Given the description of an element on the screen output the (x, y) to click on. 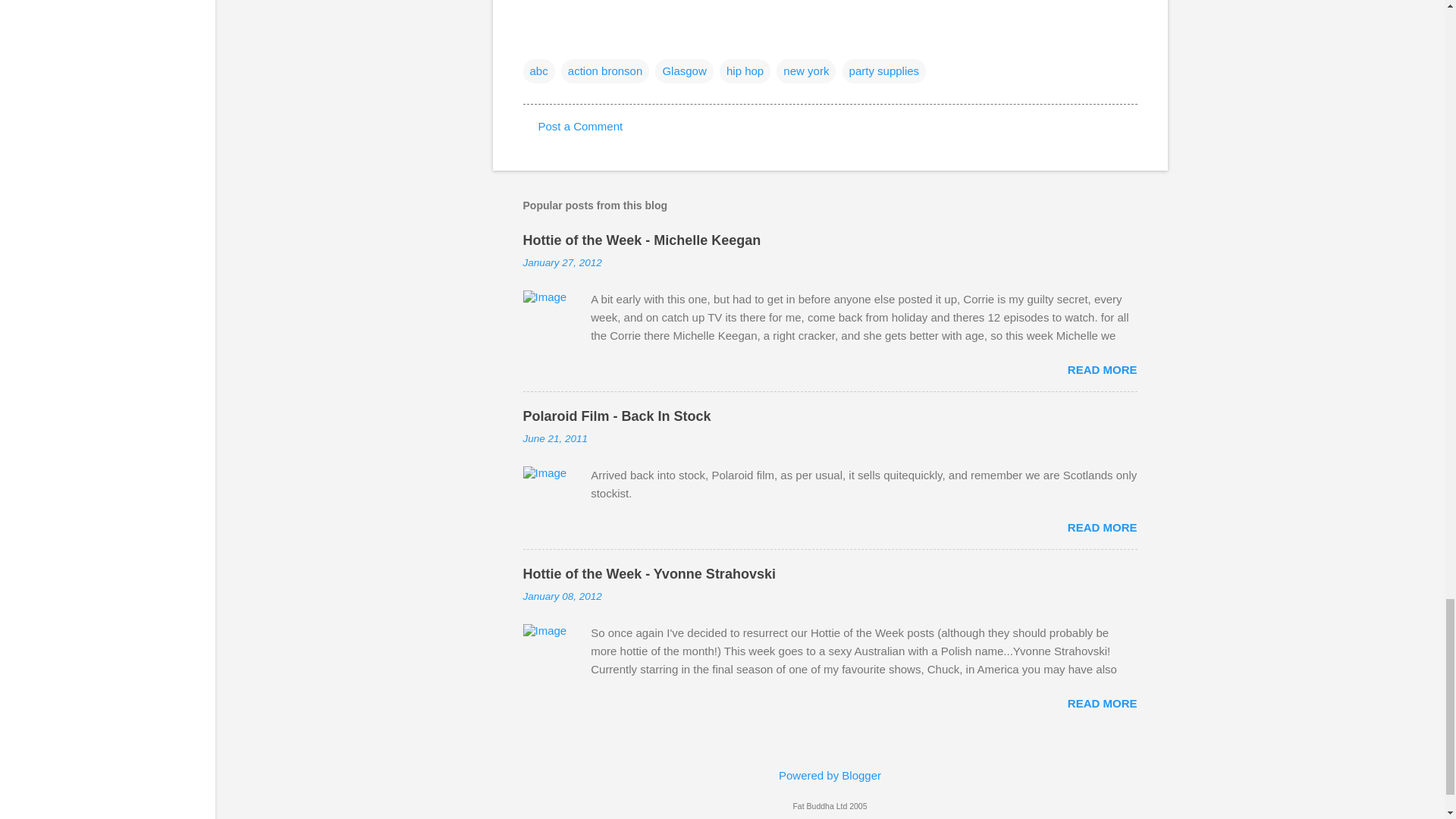
Post a Comment (580, 125)
party supplies (884, 70)
Email Post (531, 39)
hip hop (744, 70)
action bronson (604, 70)
permanent link (562, 262)
Hottie of the Week - Michelle Keegan (641, 240)
Glasgow (684, 70)
new york (805, 70)
abc (538, 70)
